Given the description of an element on the screen output the (x, y) to click on. 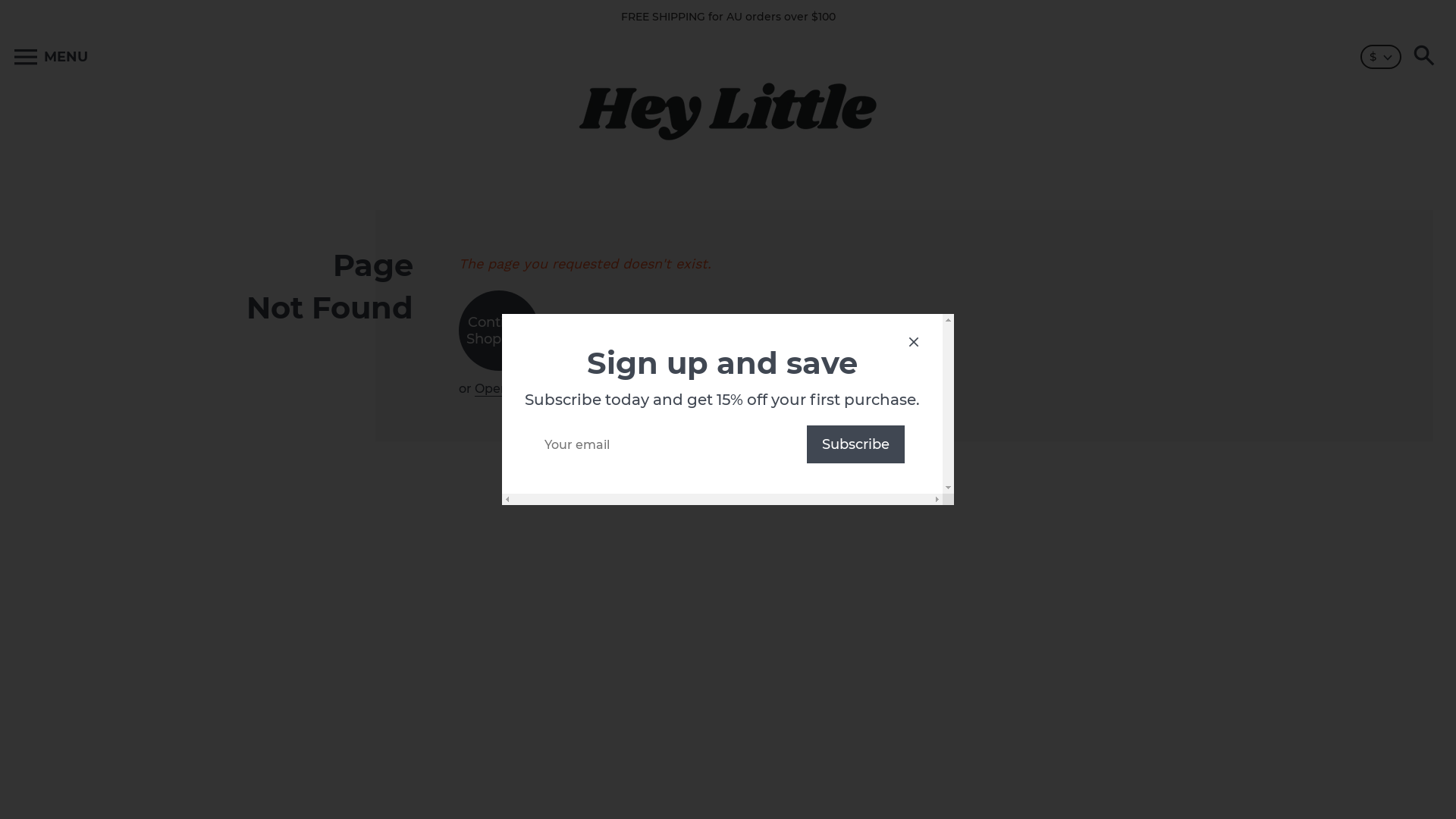
Subscribe Element type: text (855, 444)
Continue
Shopping Element type: text (498, 330)
$ Element type: text (1380, 56)
MENU Element type: text (50, 57)
Open Menu Element type: text (510, 388)
